Given the description of an element on the screen output the (x, y) to click on. 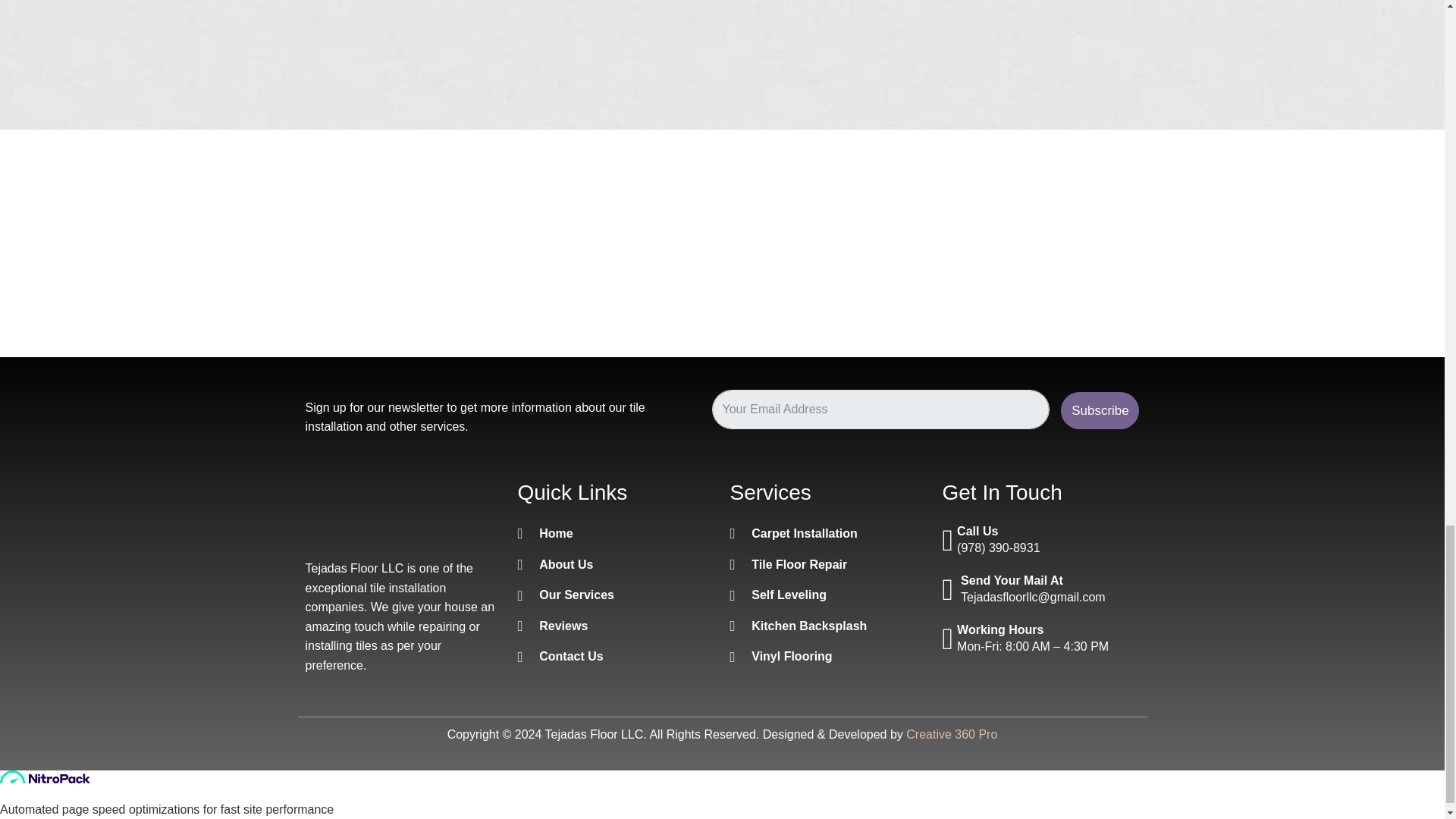
Kitchen Backsplash (827, 626)
Home (615, 533)
Vinyl Flooring (827, 656)
Subscribe (1099, 410)
Our Services (615, 595)
Self Leveling (827, 595)
Contact Us (615, 656)
Carpet Installation (827, 533)
Tile Floor Repair (827, 564)
Reviews (615, 626)
About Us (615, 564)
